Given the description of an element on the screen output the (x, y) to click on. 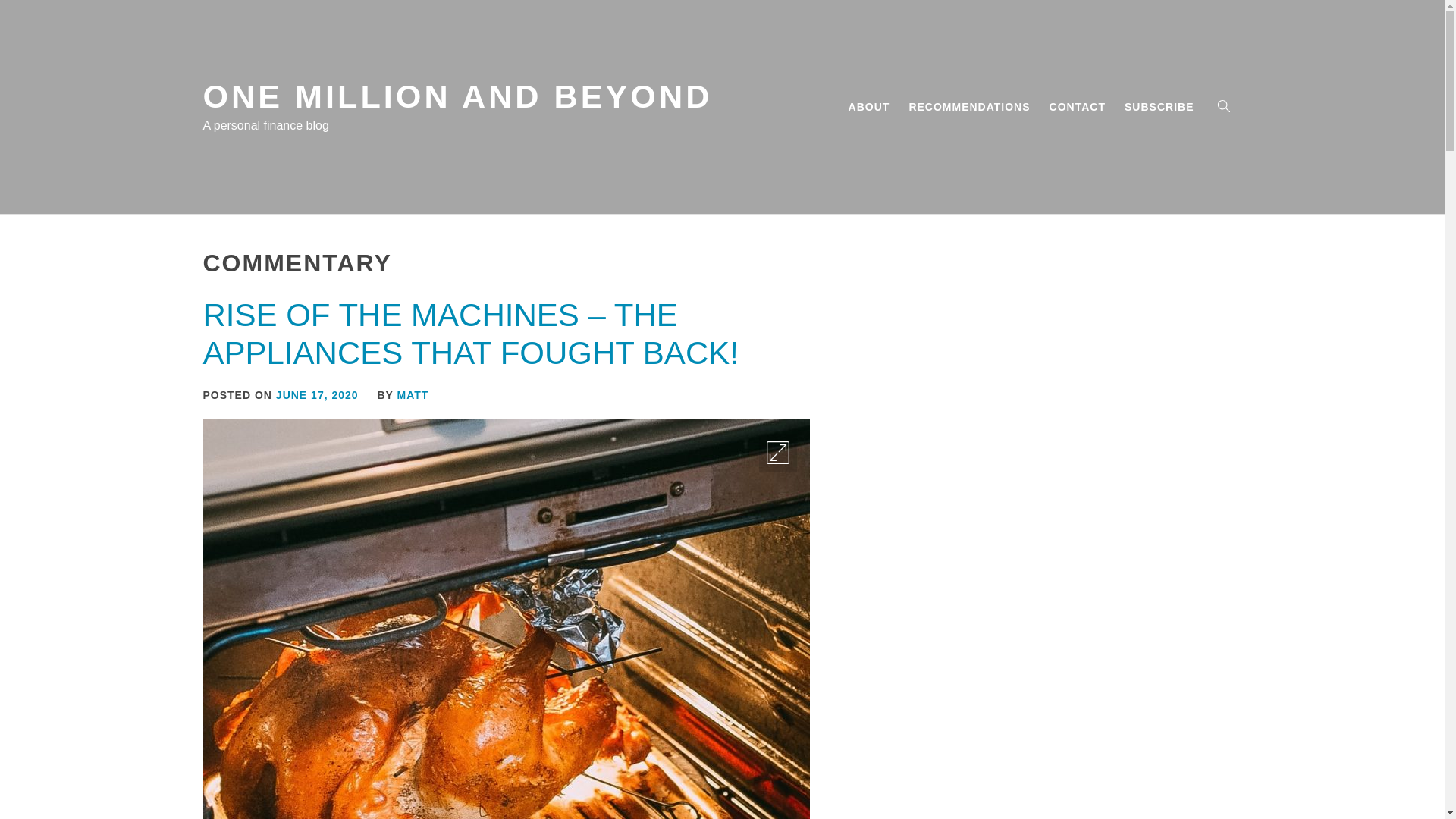
SUBSCRIBE (1158, 106)
CONTACT (1077, 106)
Search (797, 409)
ONE MILLION AND BEYOND (458, 95)
MATT (413, 395)
JUNE 17, 2020 (317, 395)
RECOMMENDATIONS (968, 106)
ABOUT (869, 106)
